Given the description of an element on the screen output the (x, y) to click on. 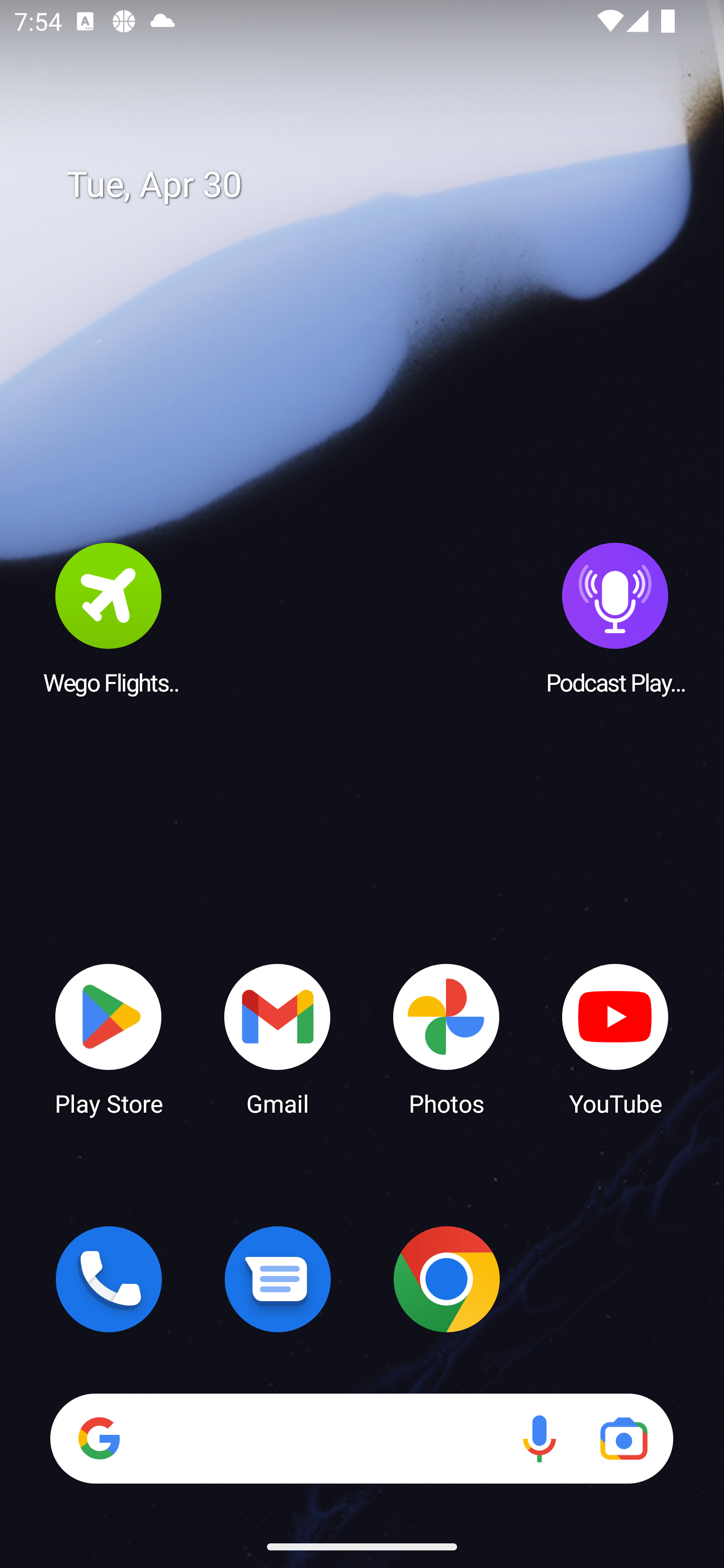
Tue, Apr 30 (375, 184)
Wego Flights & Hotels (108, 617)
Podcast Player (615, 617)
Play Store (108, 1038)
Gmail (277, 1038)
Photos (445, 1038)
YouTube (615, 1038)
Phone (108, 1279)
Messages (277, 1279)
Chrome (446, 1279)
Voice search (539, 1438)
Google Lens (623, 1438)
